Given the description of an element on the screen output the (x, y) to click on. 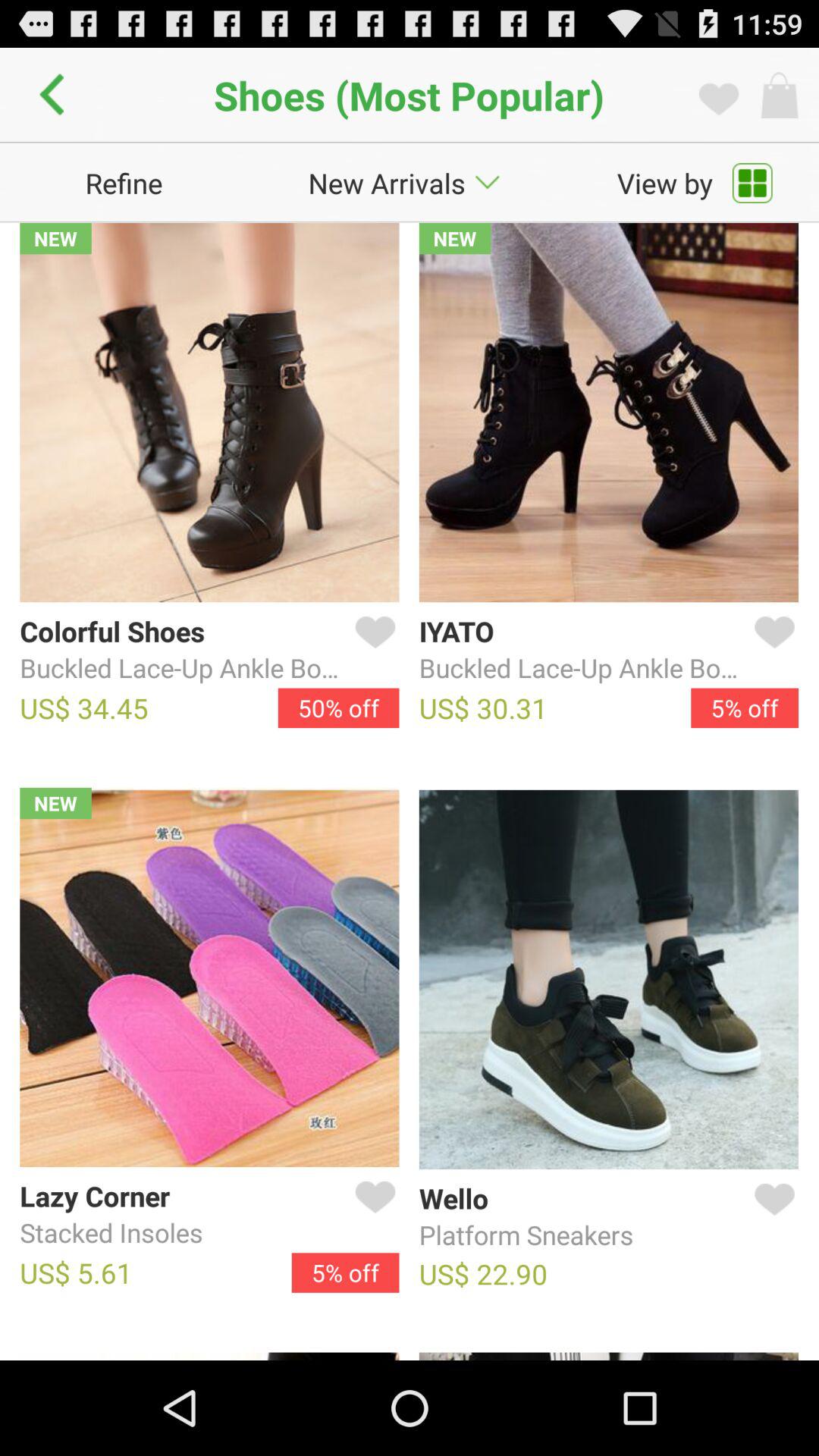
go back (56, 94)
